Given the description of an element on the screen output the (x, y) to click on. 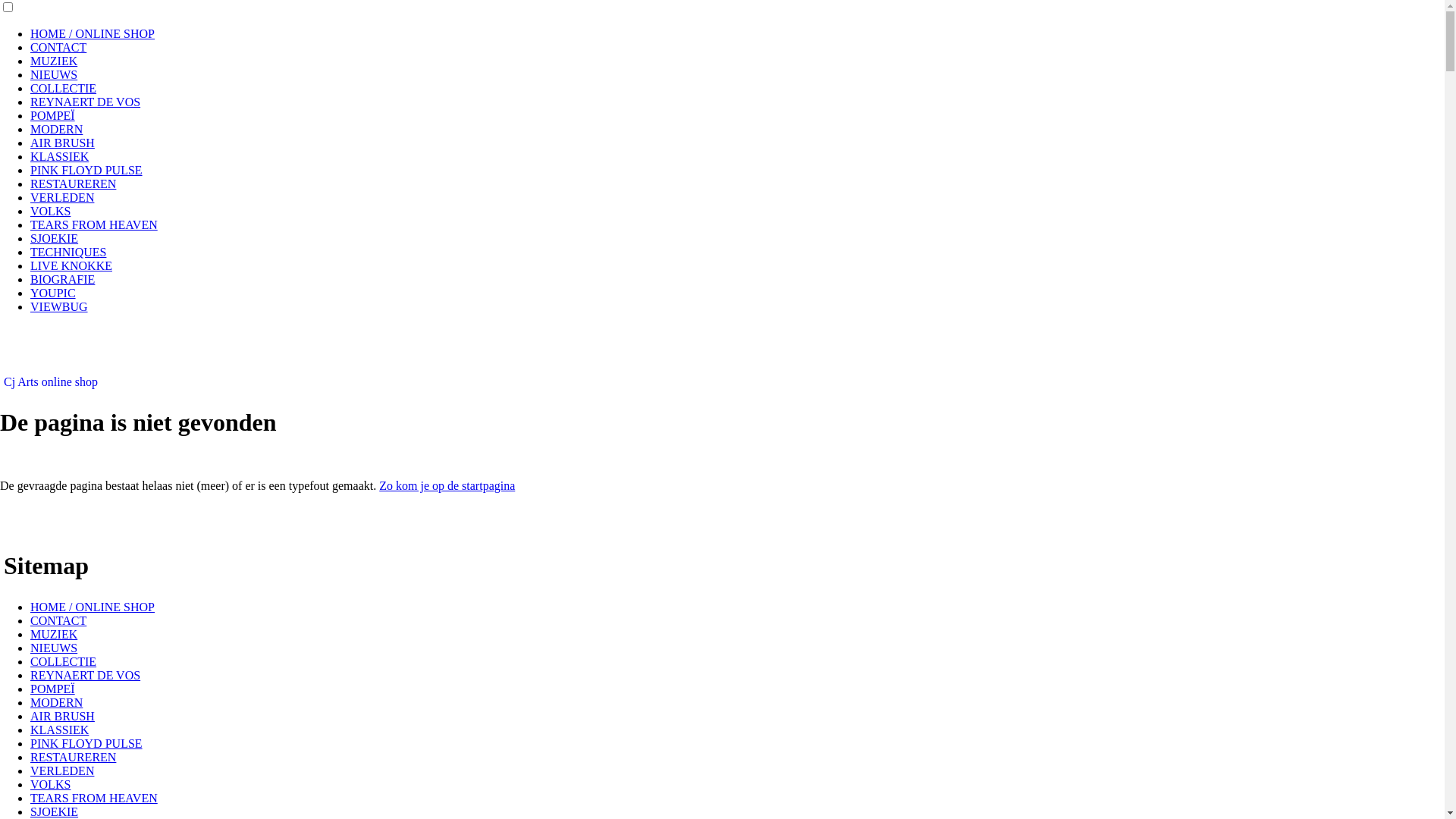
KLASSIEK Element type: text (59, 729)
COLLECTIE Element type: text (63, 87)
KLASSIEK Element type: text (59, 156)
YOUPIC Element type: text (52, 292)
AIR BRUSH Element type: text (62, 142)
SJOEKIE Element type: text (54, 238)
Cj Arts online shop Element type: text (50, 381)
SJOEKIE Element type: text (54, 811)
RESTAUREREN Element type: text (73, 183)
HOME / ONLINE SHOP Element type: text (92, 33)
VERLEDEN Element type: text (62, 197)
RESTAUREREN Element type: text (73, 756)
VOLKS Element type: text (50, 784)
PINK FLOYD PULSE Element type: text (86, 169)
COLLECTIE Element type: text (63, 661)
TECHNIQUES Element type: text (68, 251)
PINK FLOYD PULSE Element type: text (86, 743)
NIEUWS Element type: text (53, 647)
REYNAERT DE VOS Element type: text (85, 674)
MUZIEK Element type: text (53, 633)
HOME / ONLINE SHOP Element type: text (92, 606)
NIEUWS Element type: text (53, 74)
BIOGRAFIE Element type: text (62, 279)
MODERN Element type: text (56, 128)
AIR BRUSH Element type: text (62, 715)
LIVE KNOKKE Element type: text (71, 265)
CONTACT Element type: text (58, 46)
VOLKS Element type: text (50, 210)
MUZIEK Element type: text (53, 60)
VIEWBUG Element type: text (58, 306)
TEARS FROM HEAVEN Element type: text (93, 224)
TEARS FROM HEAVEN Element type: text (93, 797)
VERLEDEN Element type: text (62, 770)
CONTACT Element type: text (58, 620)
Zo kom je op de startpagina Element type: text (446, 485)
MODERN Element type: text (56, 702)
REYNAERT DE VOS Element type: text (85, 101)
